Given the description of an element on the screen output the (x, y) to click on. 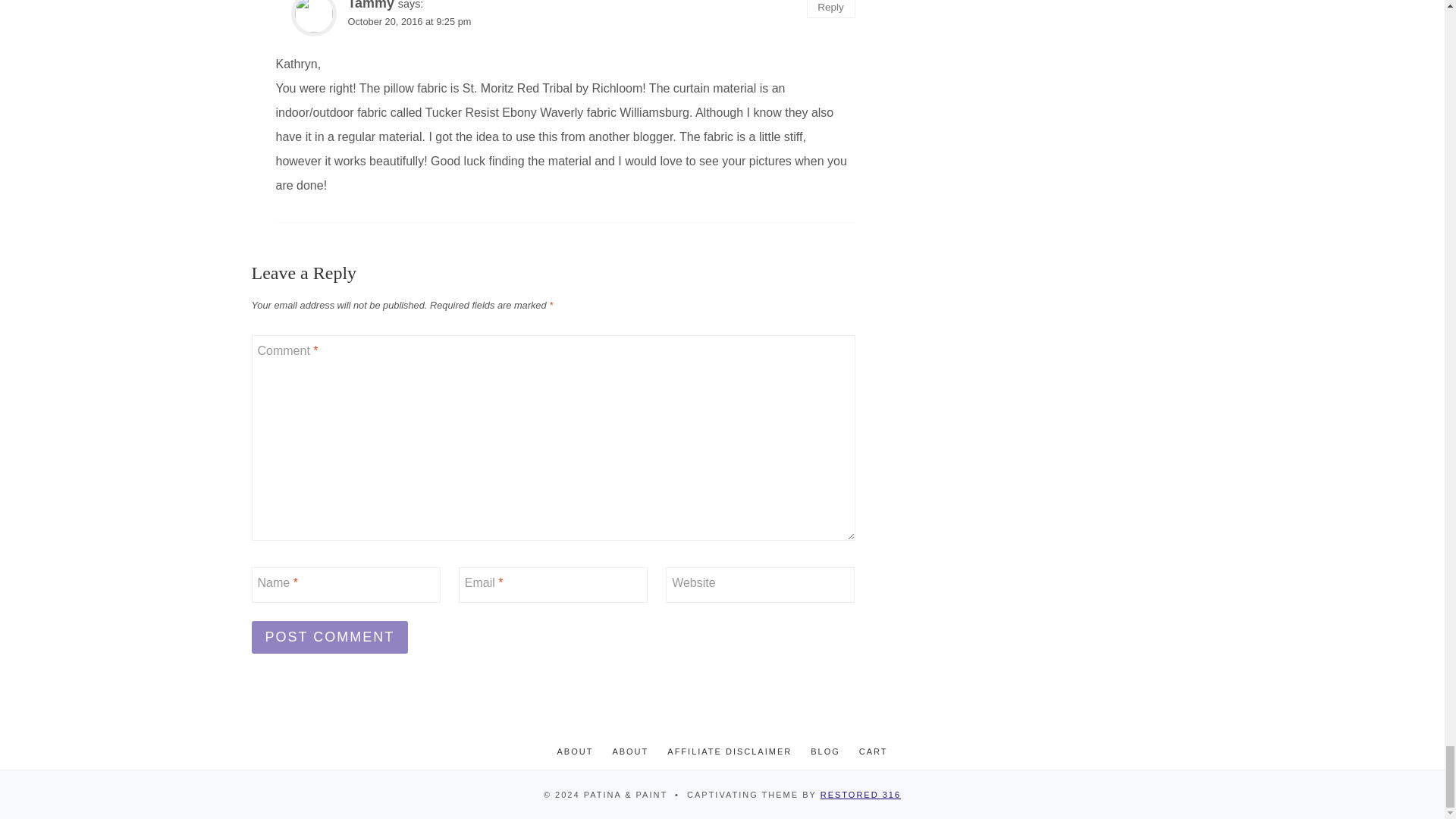
Post Comment (330, 636)
